Given the description of an element on the screen output the (x, y) to click on. 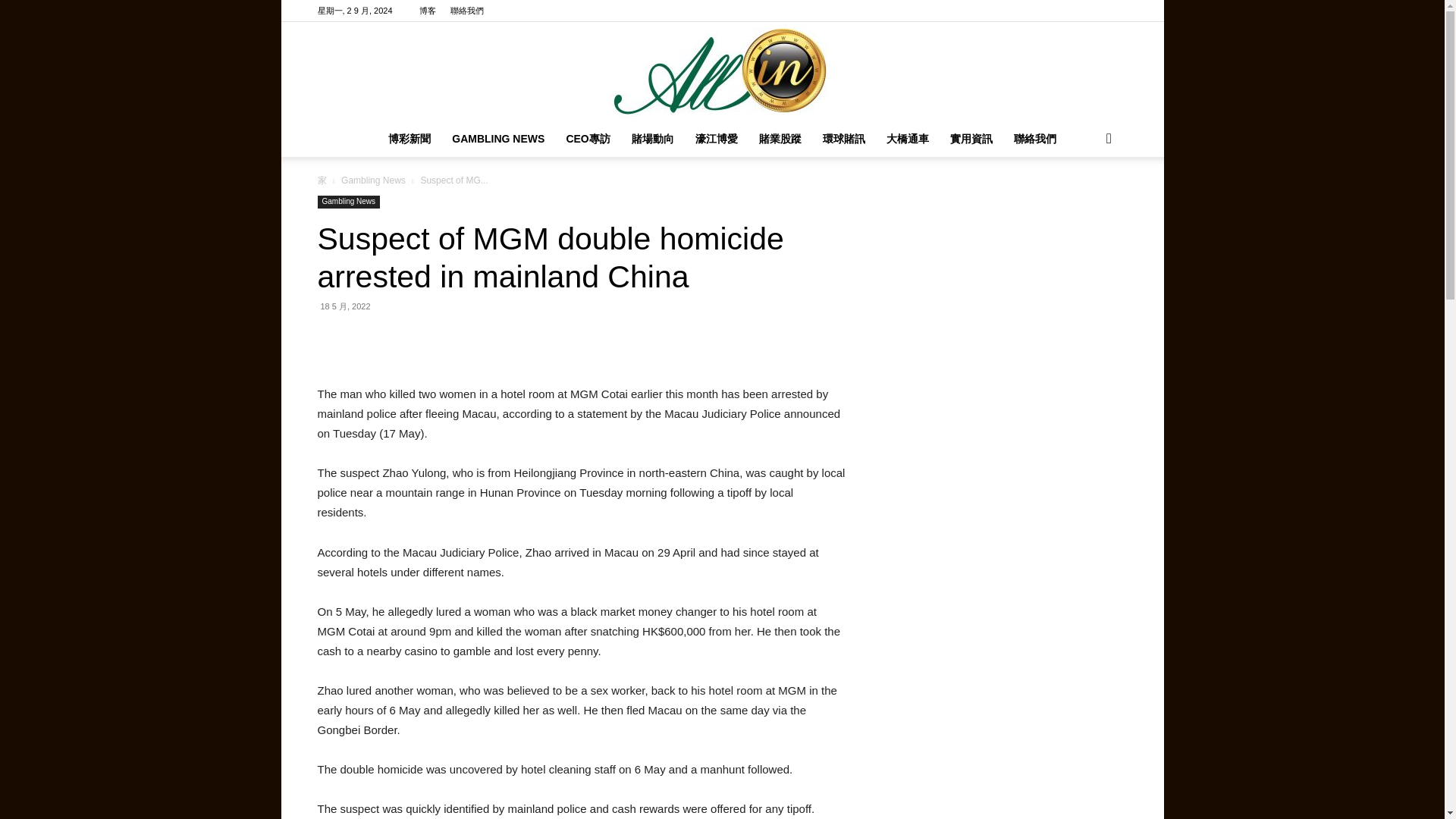
Gambling News (373, 180)
GAMBLING NEWS (497, 138)
Gambling News (348, 201)
Allin News (722, 72)
